Given the description of an element on the screen output the (x, y) to click on. 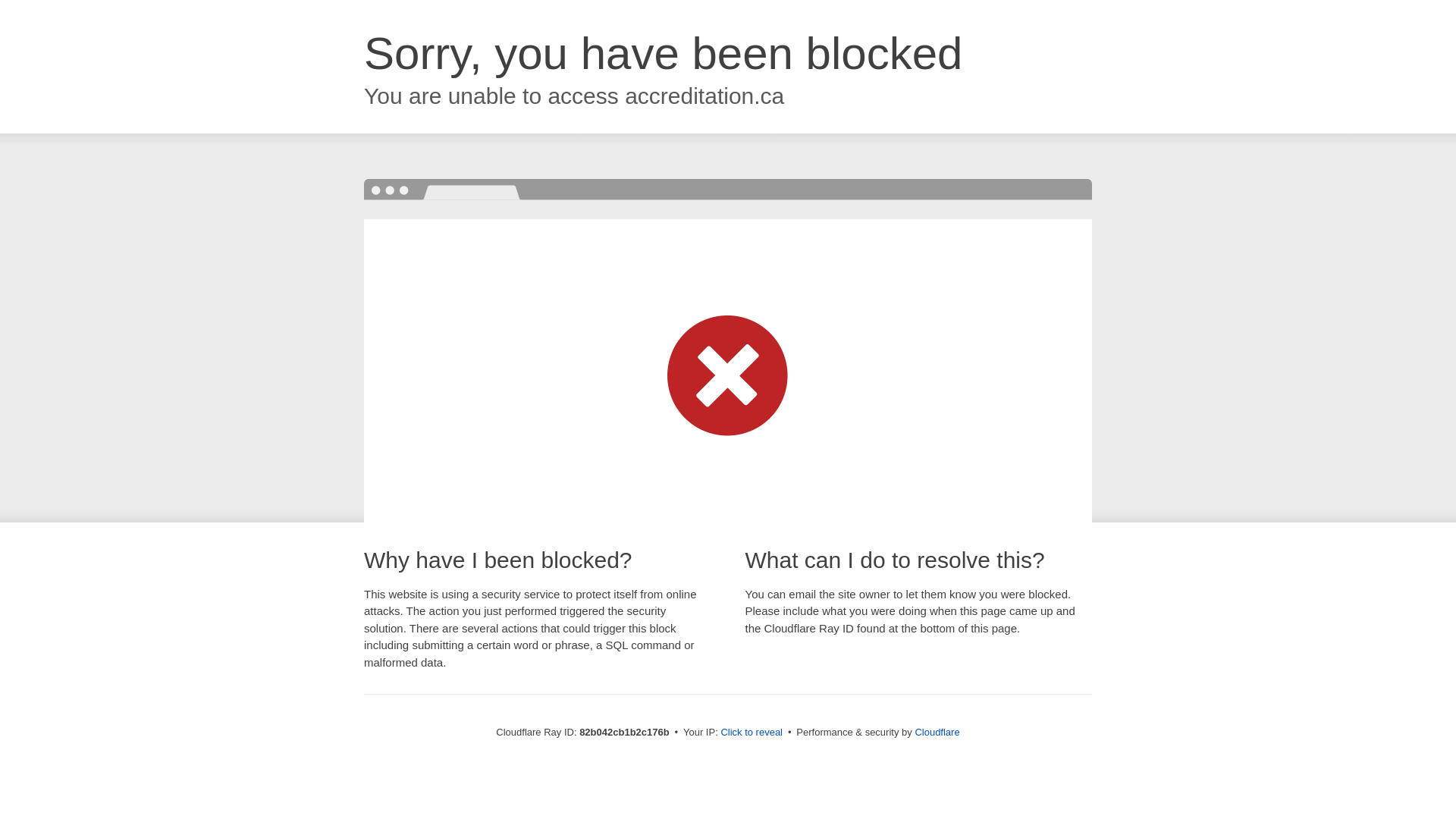
Cloudflare Element type: text (936, 731)
Click to reveal Element type: text (751, 732)
